Given the description of an element on the screen output the (x, y) to click on. 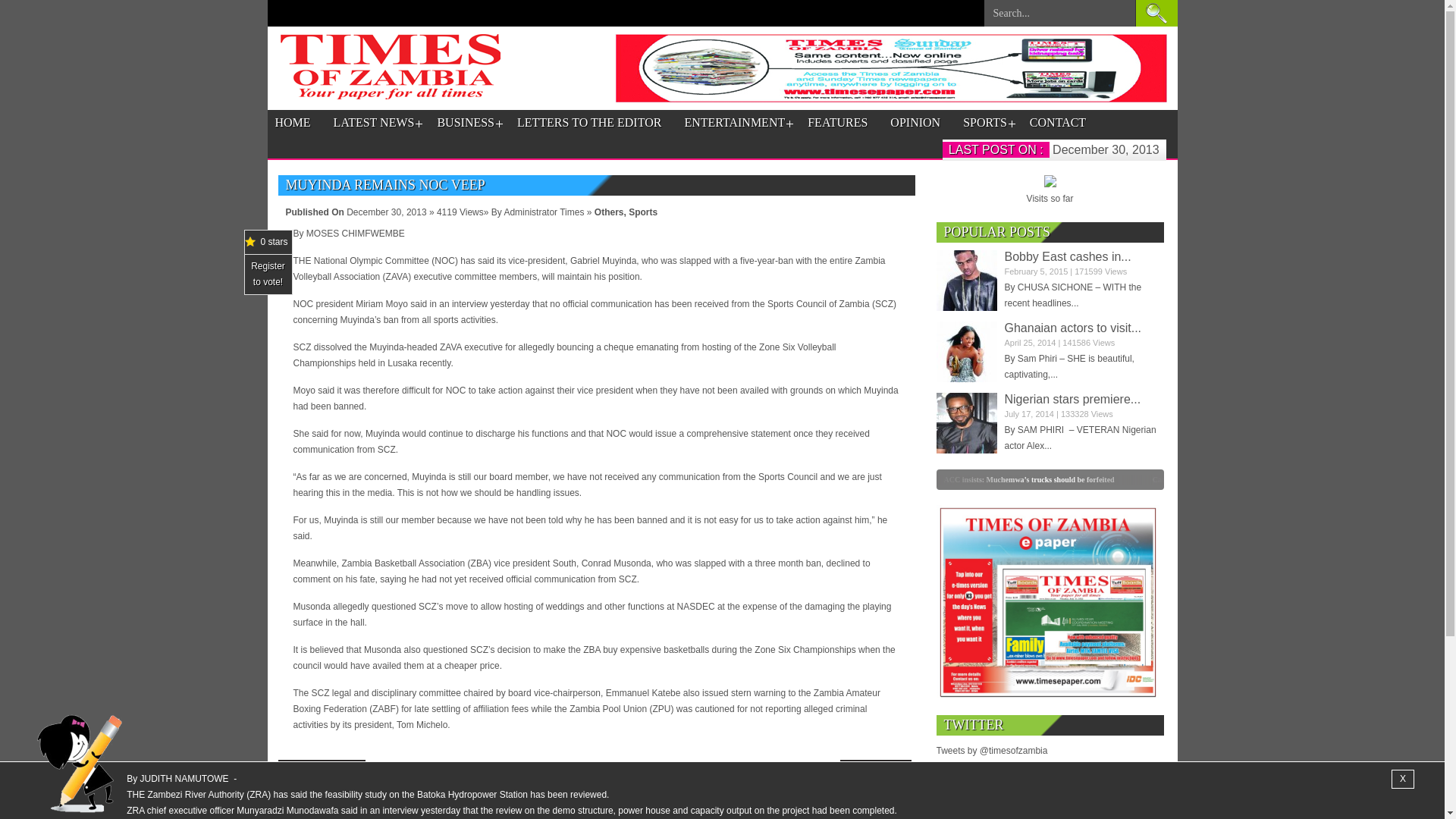
Ghanaian actors to visit Zambia (1072, 327)
Twitter (352, 813)
Facebook (303, 813)
HOME (292, 122)
Catholic priest suspected killer freed (1230, 479)
LETTERS TO THE EDITOR (588, 122)
Register (267, 266)
0 (864, 479)
FEATURES (837, 122)
Email (603, 813)
Search... (1059, 17)
Bobby East  cashes in at  The Bank Cafe (1067, 256)
Reddit (553, 813)
Linkedin (502, 813)
Bobby East  cashes in at  The Bank Cafe (965, 280)
